Given the description of an element on the screen output the (x, y) to click on. 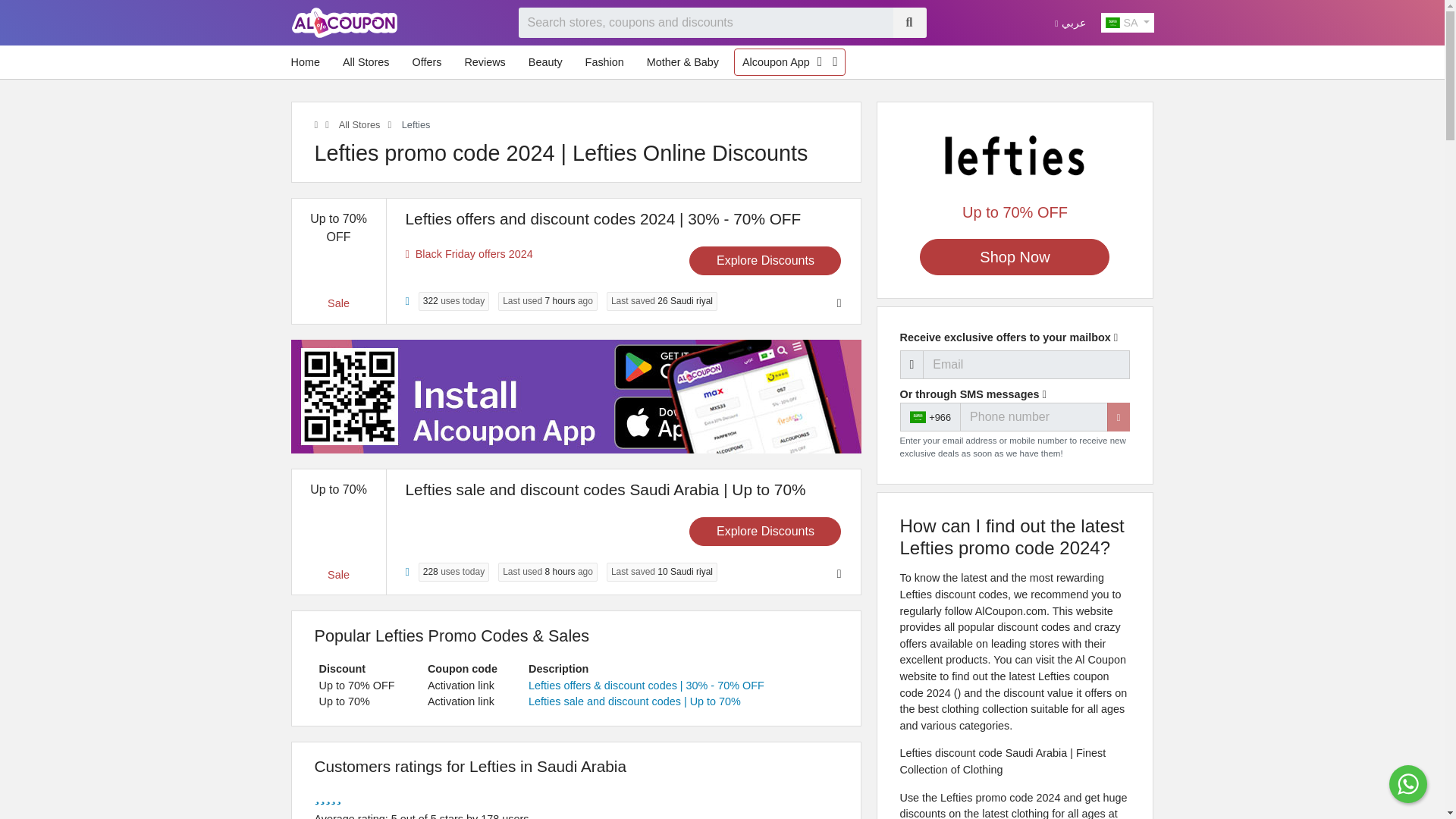
sa Go to Arabic Interface (1069, 22)
All Coupons and deals for Saudi Arabia stores (358, 124)
Alcoupon App (775, 62)
Beauty (545, 61)
Reviews (484, 61)
All Stores (358, 124)
Search (909, 22)
Explore Discounts (764, 260)
Offers (426, 61)
Fashion (604, 61)
